Given the description of an element on the screen output the (x, y) to click on. 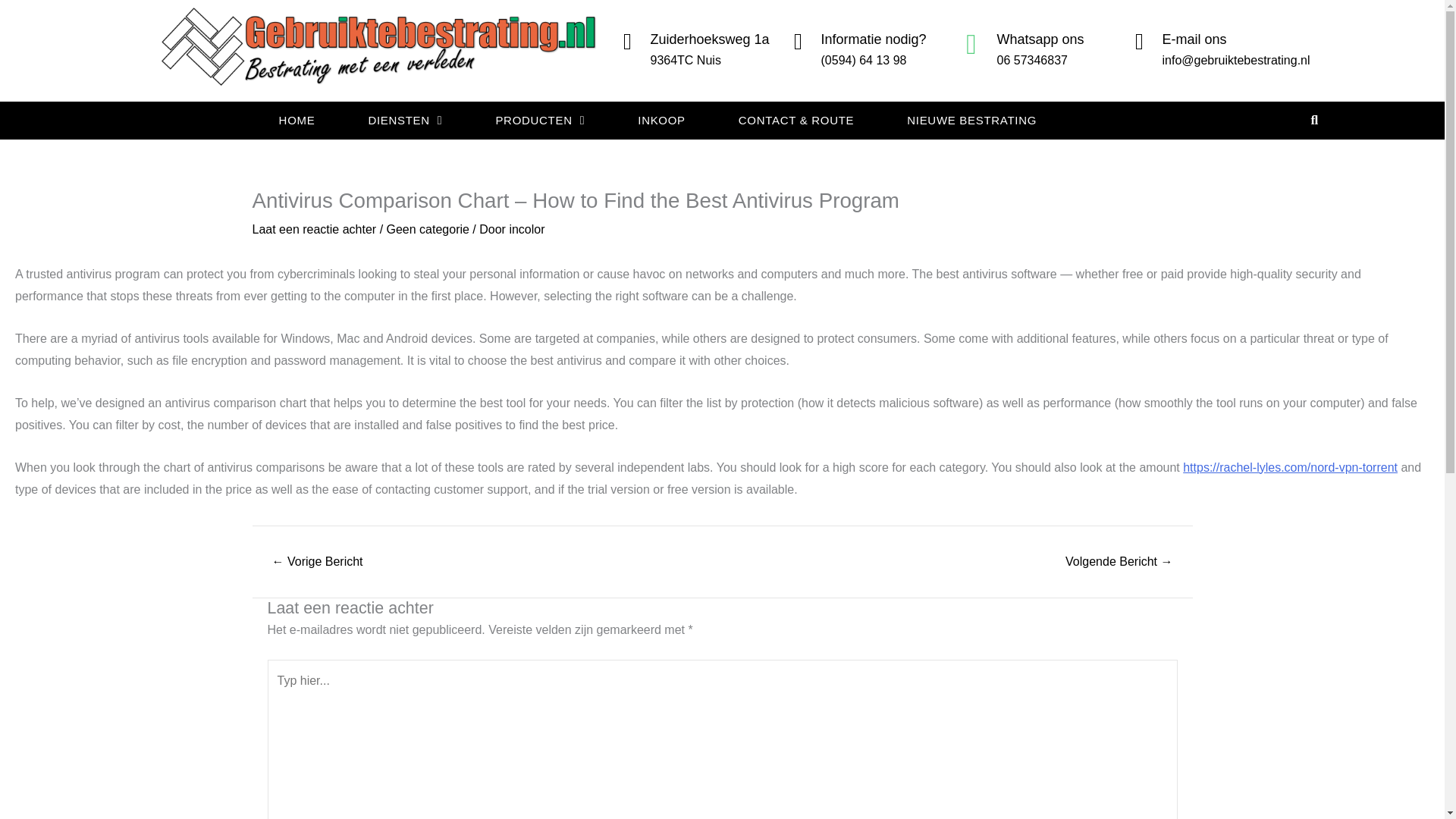
Whatsapp ons (1039, 38)
Zuiderhoeksweg 1a (710, 38)
DIENSTEN (404, 120)
5 Benefits of Secure Business Solutions (1118, 562)
PRODUCTEN (539, 120)
E-mail ons (1193, 38)
Informatie nodig? (873, 38)
NIEUWE BESTRATING (971, 120)
Precisely what are the Features of an Online Data Room? (316, 562)
HOME (296, 120)
Bekijk alle berichten van incolor (526, 228)
INKOOP (660, 120)
